Given the description of an element on the screen output the (x, y) to click on. 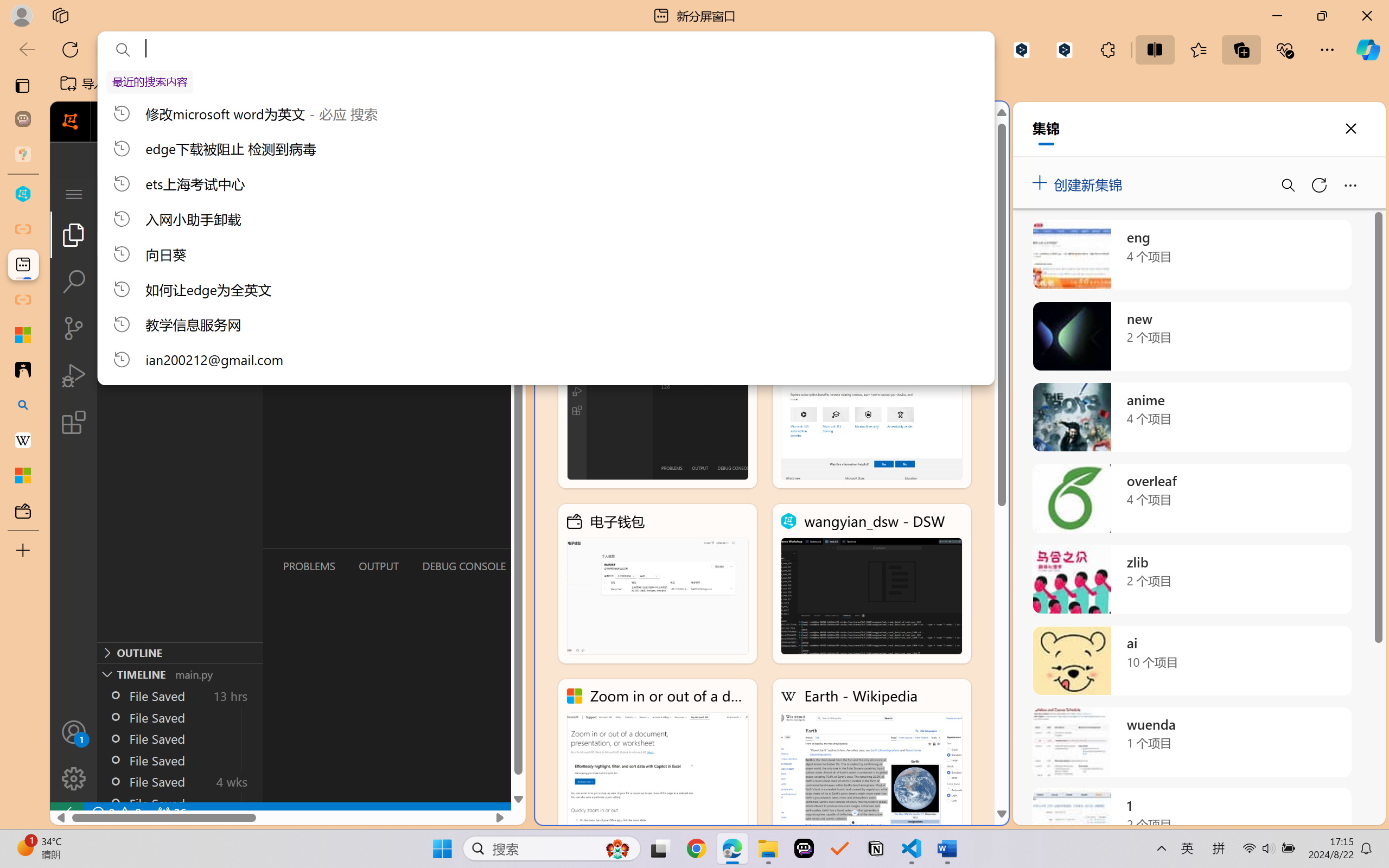
Earth - Wikipedia (871, 758)
test.ipynb (468, 194)
Views and More Actions... (240, 193)
